Given the description of an element on the screen output the (x, y) to click on. 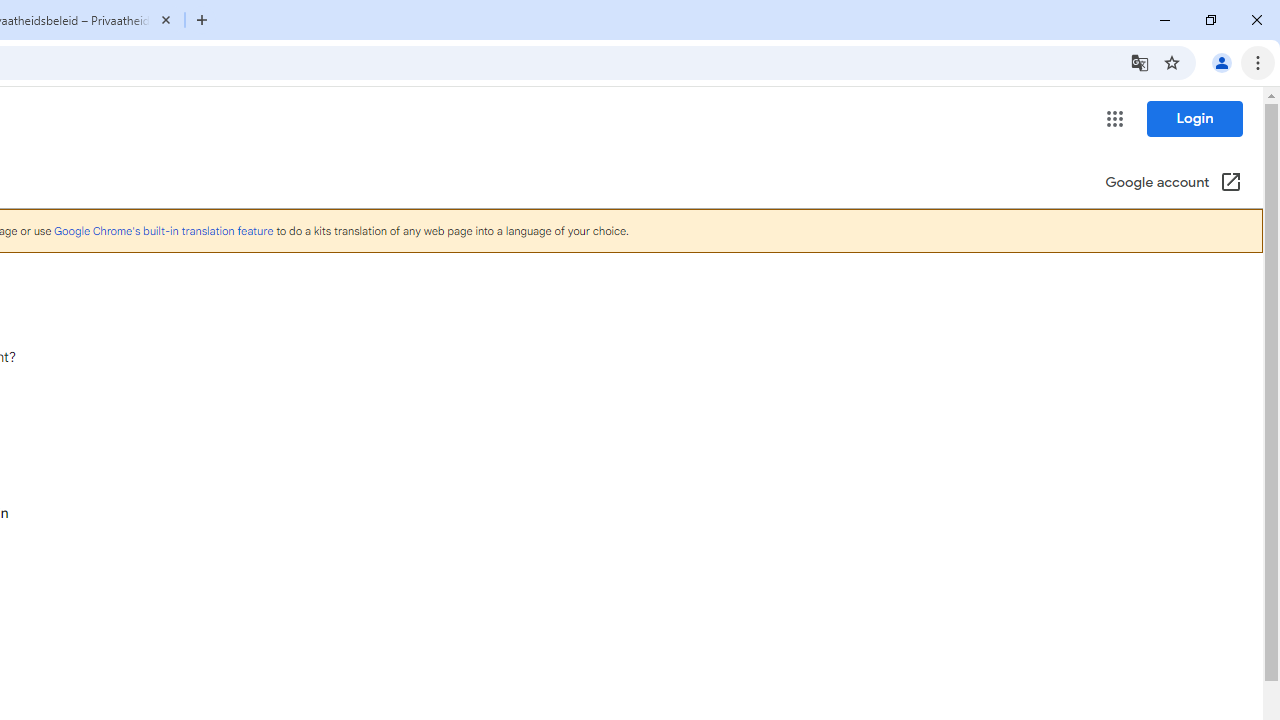
Google Account (Opens in new window) (1173, 183)
Google Chrome's built-in translation feature (163, 230)
Login (1194, 118)
Translate this page (1139, 62)
